Given the description of an element on the screen output the (x, y) to click on. 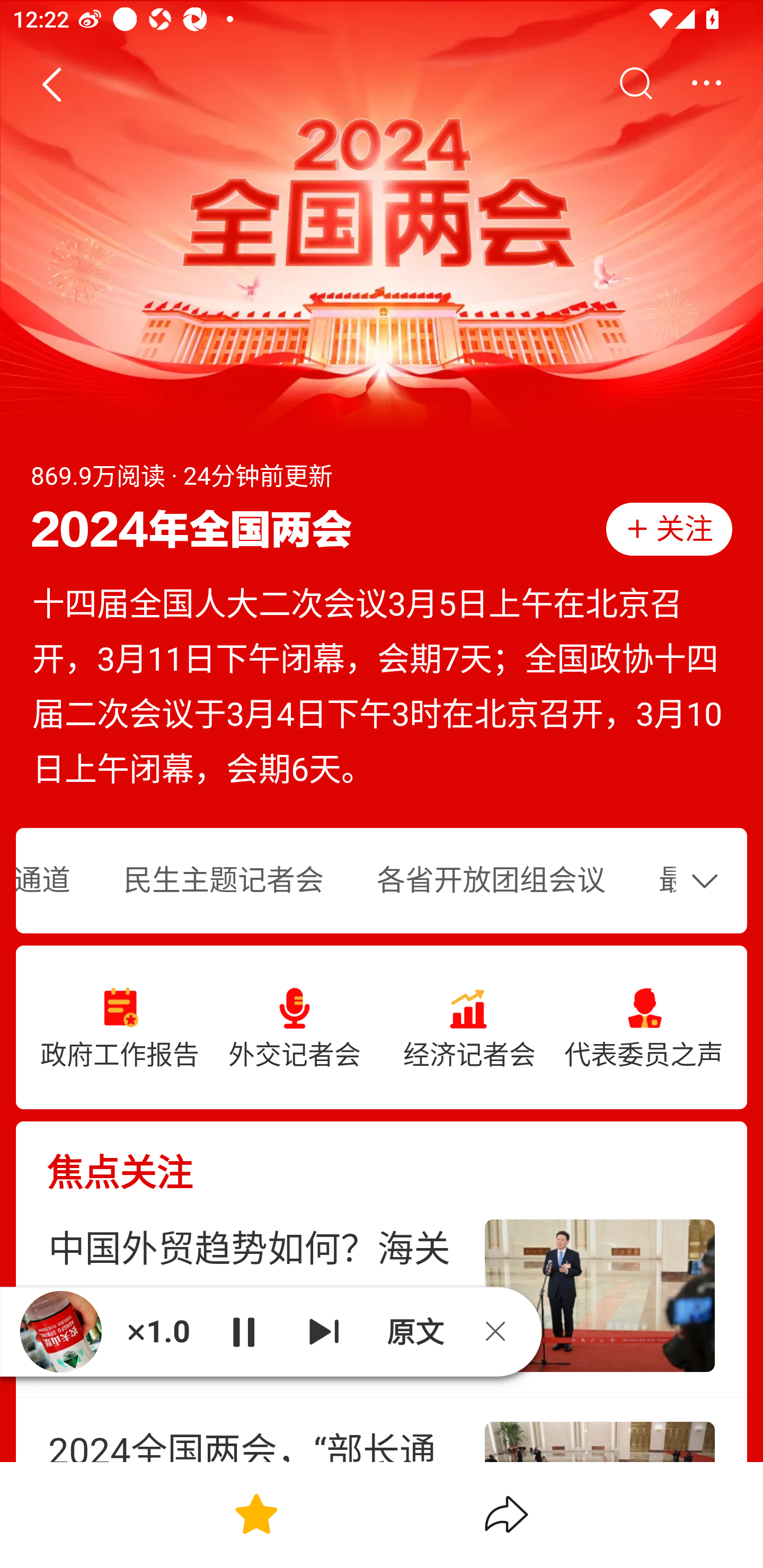
 (50, 83)
 (634, 83)
 (705, 83)
 关注 (668, 529)
代表委员通道 (56, 880)
民生主题记者会 (223, 880)
各省开放团组会议 (490, 880)
 (708, 880)
政府工作报告 (119, 1027)
外交记者会 (294, 1027)
经济记者会 (469, 1027)
代表委员之声 (643, 1027)
焦点关注 (381, 1157)
播放器 (60, 1331)
 播放 (242, 1330)
 下一个 (323, 1330)
 关闭 (501, 1330)
原文 (413, 1331)
 1.0 (157, 1330)
收藏  (255, 1514)
分享  (506, 1514)
